Given the description of an element on the screen output the (x, y) to click on. 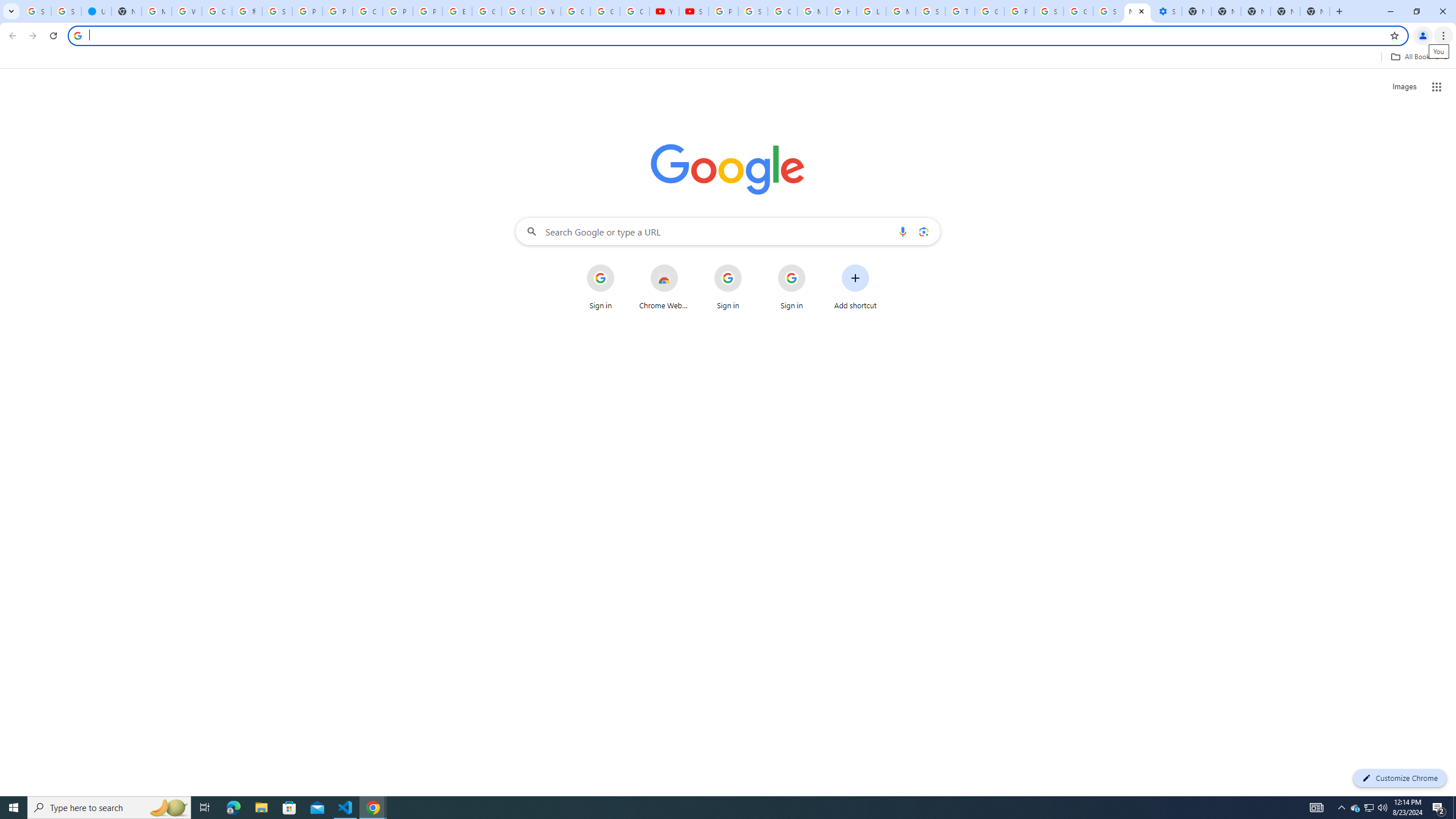
All Bookmarks (1418, 56)
Search for Images  (1403, 87)
Create your Google Account (216, 11)
Search Google or type a URL (727, 230)
New Tab (1314, 11)
Trusted Information and Content - Google Safety Center (959, 11)
Bookmarks (728, 58)
Subscriptions - YouTube (693, 11)
More actions for Chrome Web Store shortcut (686, 265)
Customize Chrome (1399, 778)
Google Slides: Sign-in (486, 11)
Chrome Web Store (663, 287)
